Given the description of an element on the screen output the (x, y) to click on. 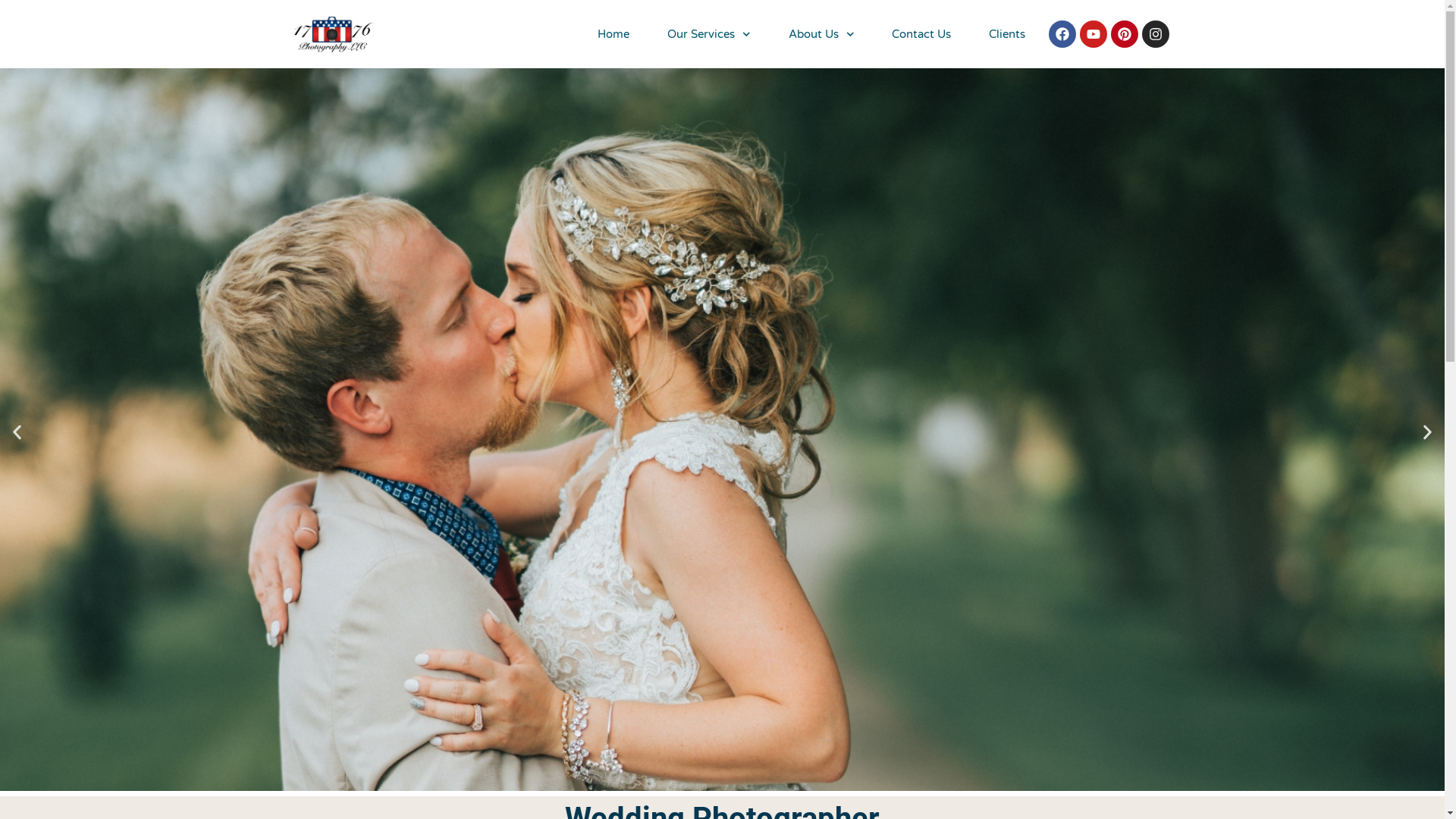
Contact Us Element type: text (920, 34)
Home Element type: text (613, 34)
About Us Element type: text (821, 34)
Clients Element type: text (1006, 34)
Our Services Element type: text (708, 34)
